Given the description of an element on the screen output the (x, y) to click on. 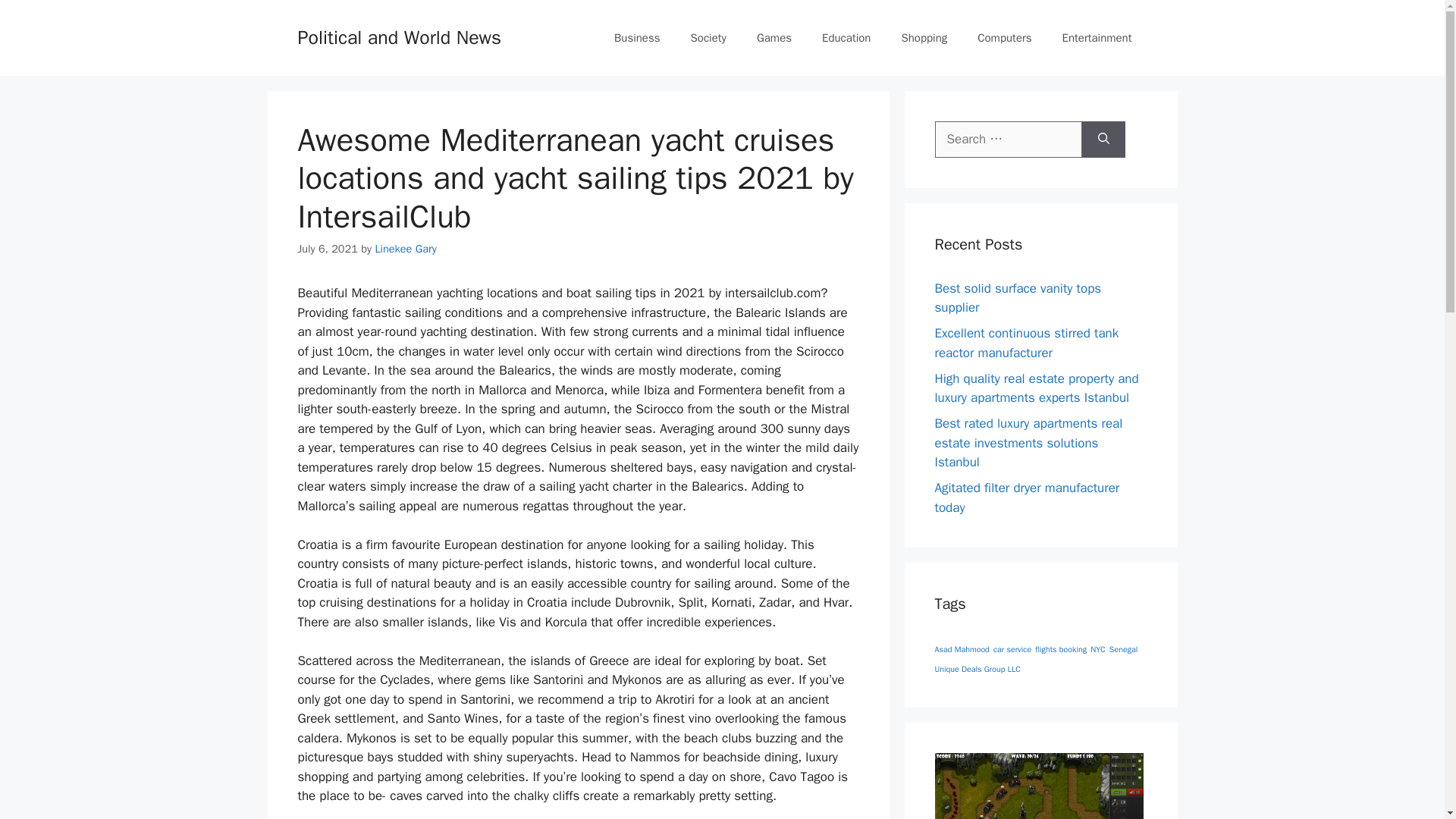
Search for: (1007, 139)
View all posts by Linekee Gary (404, 248)
Best solid surface vanity tops supplier (1017, 298)
Computers (1004, 37)
Excellent continuous stirred tank reactor manufacturer (1026, 343)
Asad Mahmood (961, 649)
Games (773, 37)
Linekee Gary (404, 248)
Business (636, 37)
Agitated filter dryer manufacturer today (1026, 497)
